Given the description of an element on the screen output the (x, y) to click on. 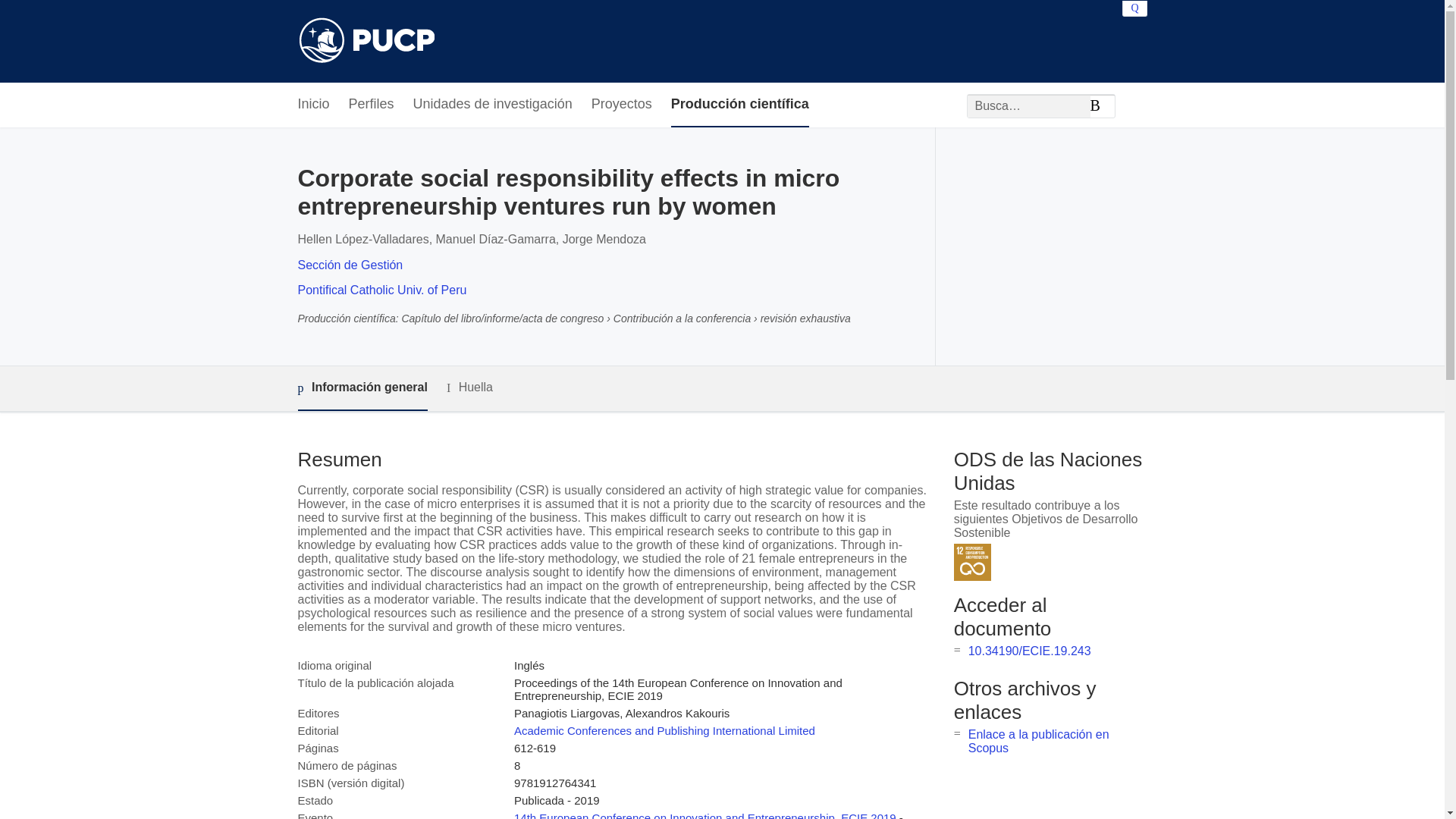
Perfiles (371, 104)
Pontifical Catholic Univ. of Peru (381, 289)
Huella (469, 387)
Proyectos (621, 104)
Academic Conferences and Publishing International Limited (664, 730)
